Given the description of an element on the screen output the (x, y) to click on. 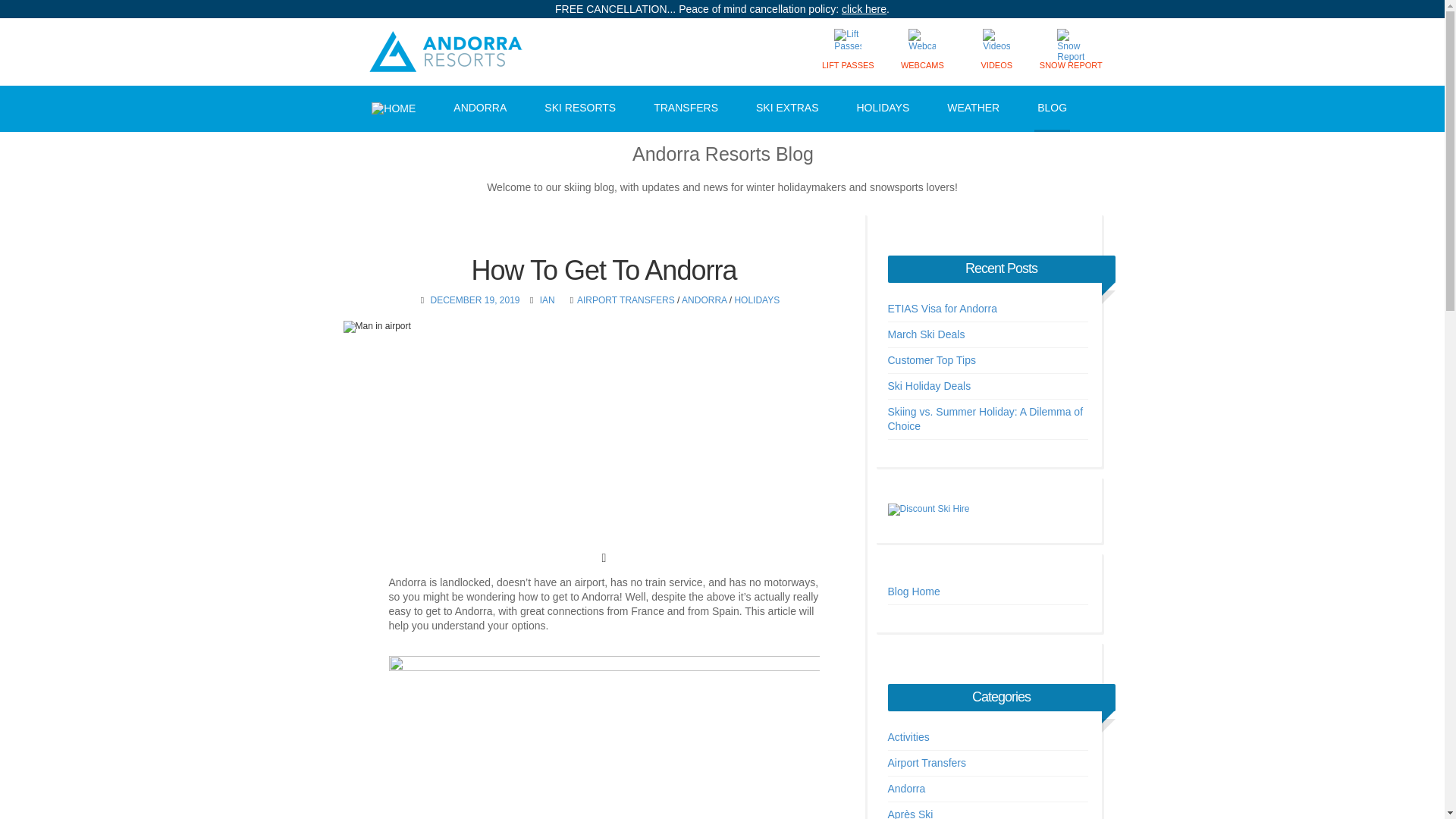
Peace of mind (863, 9)
SNOW REPORT (1070, 51)
Home Page (393, 108)
ANDORRA (479, 108)
click here (863, 9)
TRANSFERS (685, 108)
VIDEOS (996, 51)
WEATHER (973, 108)
SKI RESORTS (579, 108)
LIFT PASSES (847, 51)
